Given the description of an element on the screen output the (x, y) to click on. 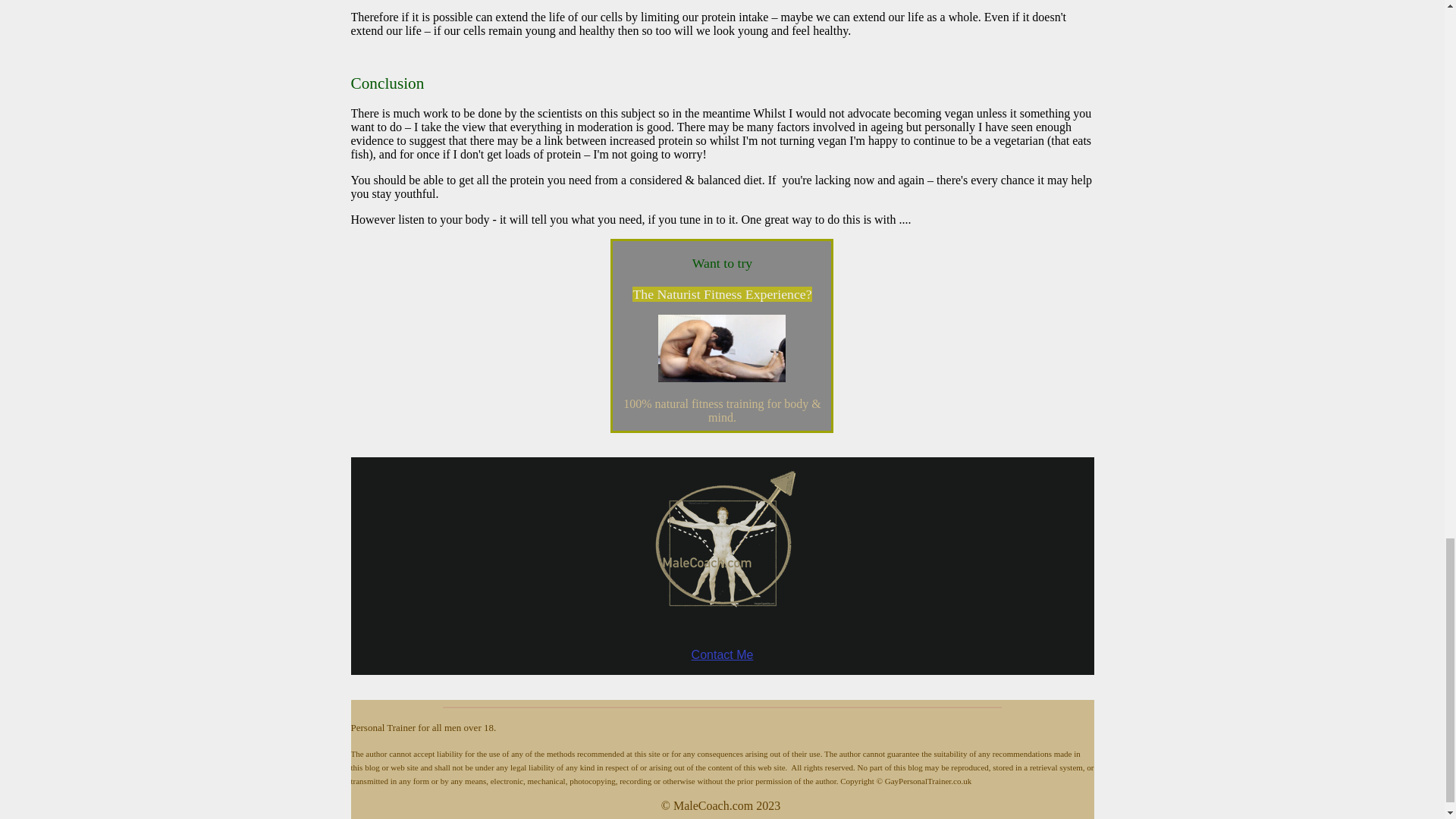
Contact Me (722, 654)
male coach logo in style of vitruvian man  (721, 551)
